Given the description of an element on the screen output the (x, y) to click on. 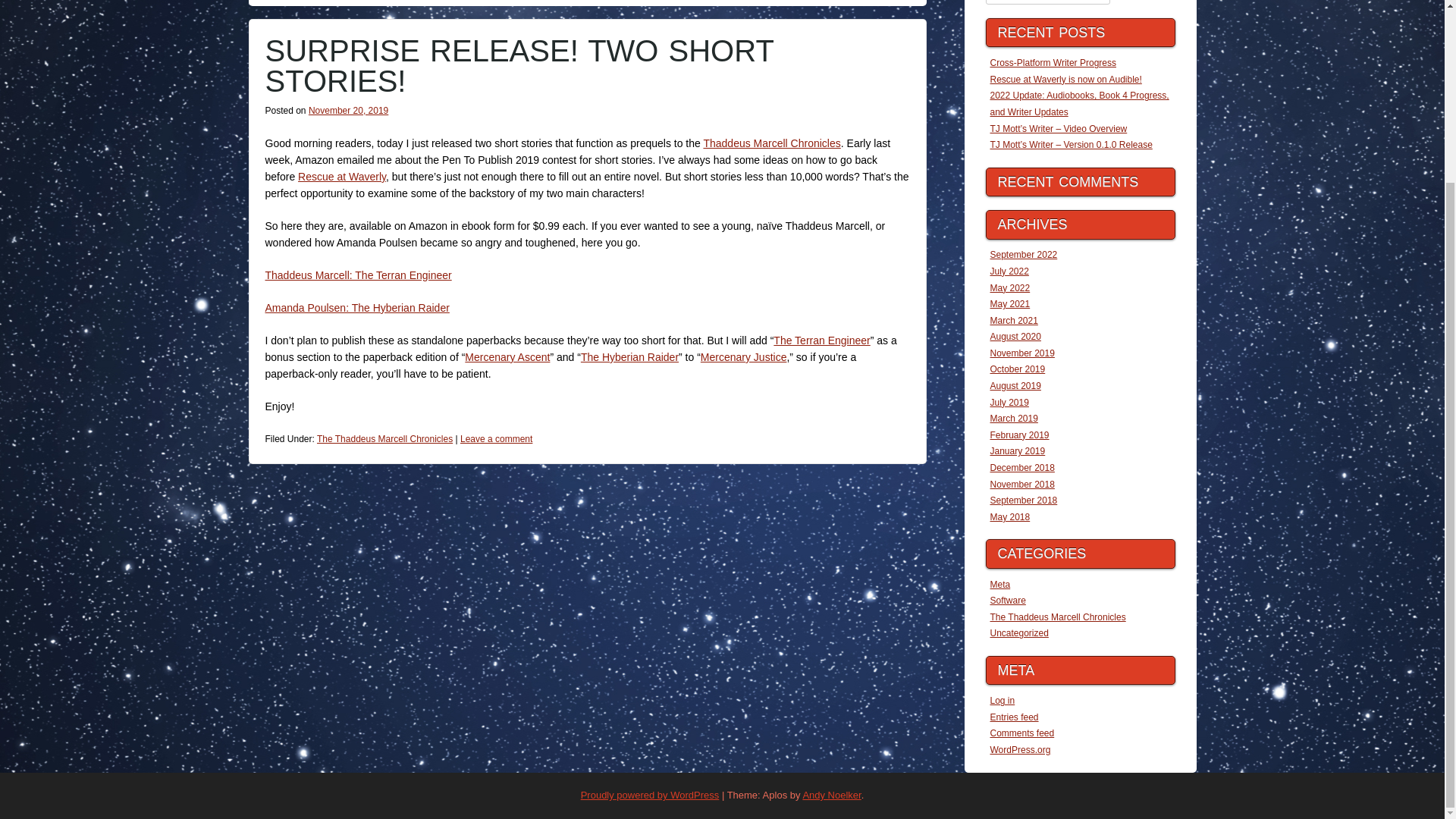
Rescue at Waverly (341, 176)
SURPRISE RELEASE! TWO SHORT STORIES! (519, 65)
A Semantic Personal Publishing Platform (649, 794)
March 2021 (1014, 320)
6:47 am (348, 110)
November 20, 2019 (348, 110)
July 2019 (1009, 402)
November 2019 (1022, 353)
Permalink to Surprise Release! Two Short Stories! (519, 65)
Mercenary Justice (743, 357)
